Given the description of an element on the screen output the (x, y) to click on. 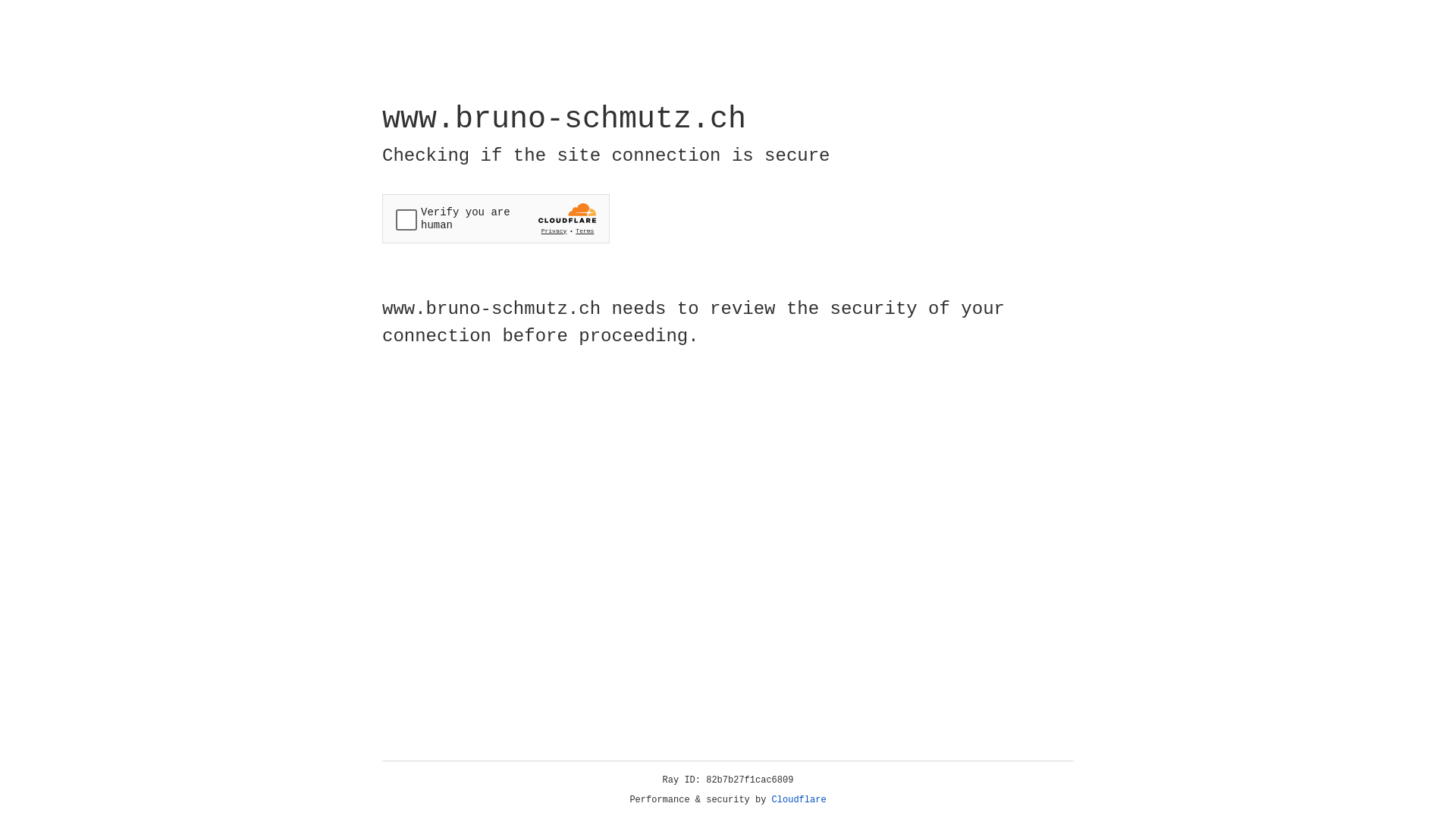
Cloudflare Element type: text (798, 799)
Widget containing a Cloudflare security challenge Element type: hover (495, 218)
